Given the description of an element on the screen output the (x, y) to click on. 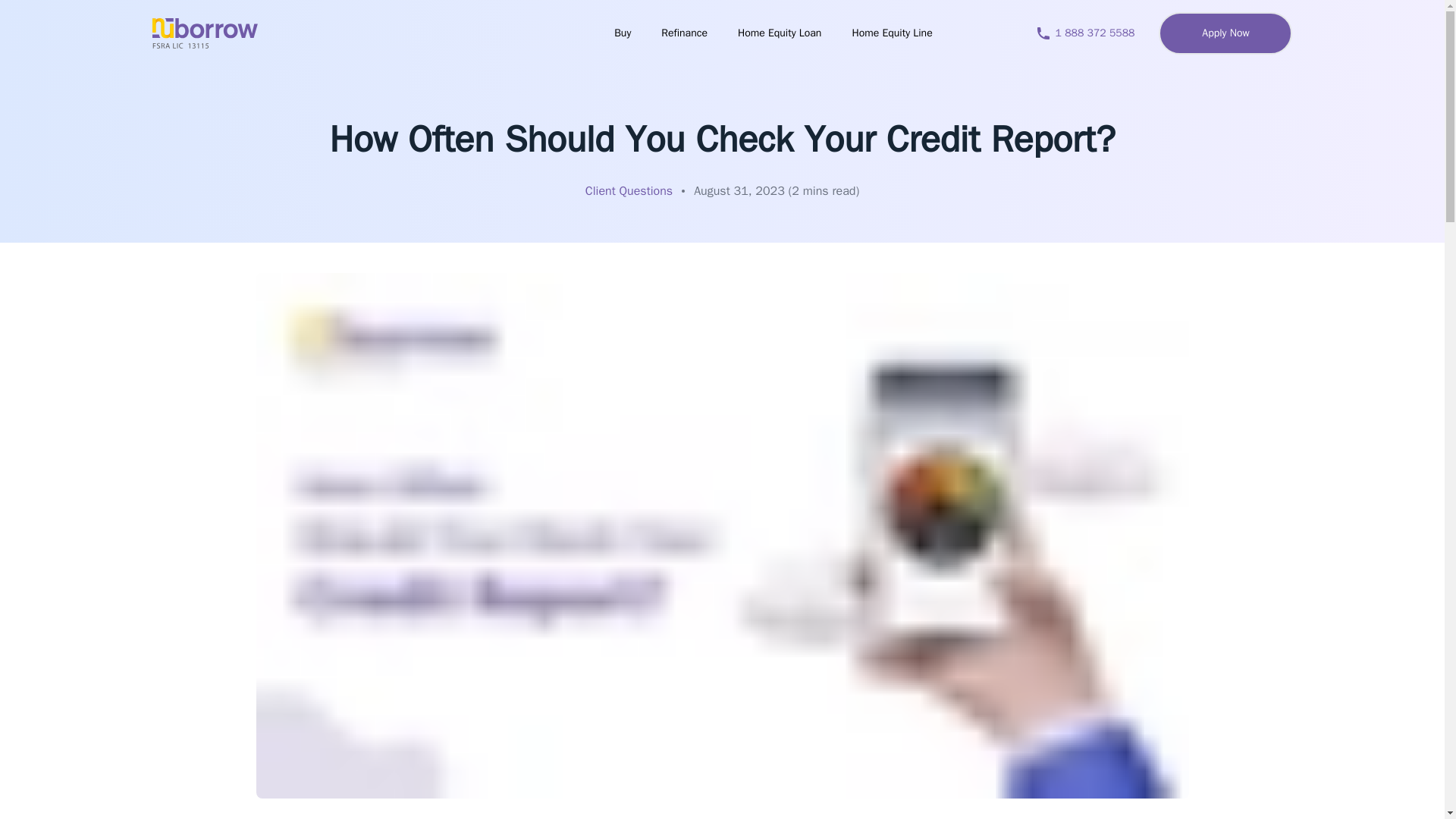
Home Equity Loan (779, 32)
1 888 372 5588 (1095, 32)
Buy (622, 32)
Refinance (684, 32)
Apply Now (1225, 33)
Home Equity Line (891, 32)
Go to Nuborrow.com (204, 33)
